Given the description of an element on the screen output the (x, y) to click on. 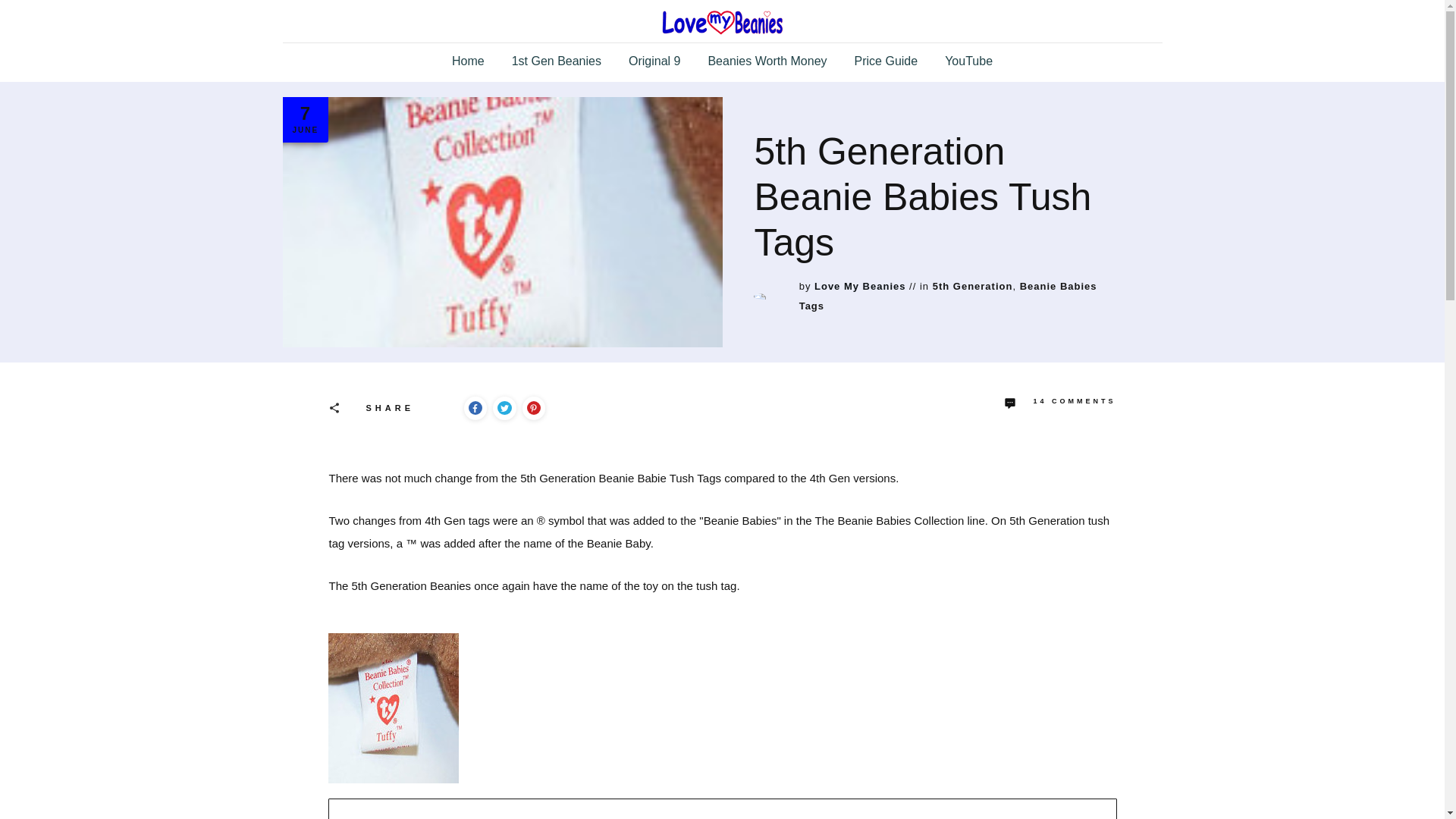
Beanie Babies Tags (948, 296)
14 COMMENTS (1060, 402)
Home (467, 61)
Original 9 (653, 61)
Beanie Babies Tags (948, 296)
YouTube (968, 61)
Beanies Worth Money (767, 61)
Price Guide (886, 61)
Love My Beanies (859, 285)
5th Generation (973, 285)
